Given the description of an element on the screen output the (x, y) to click on. 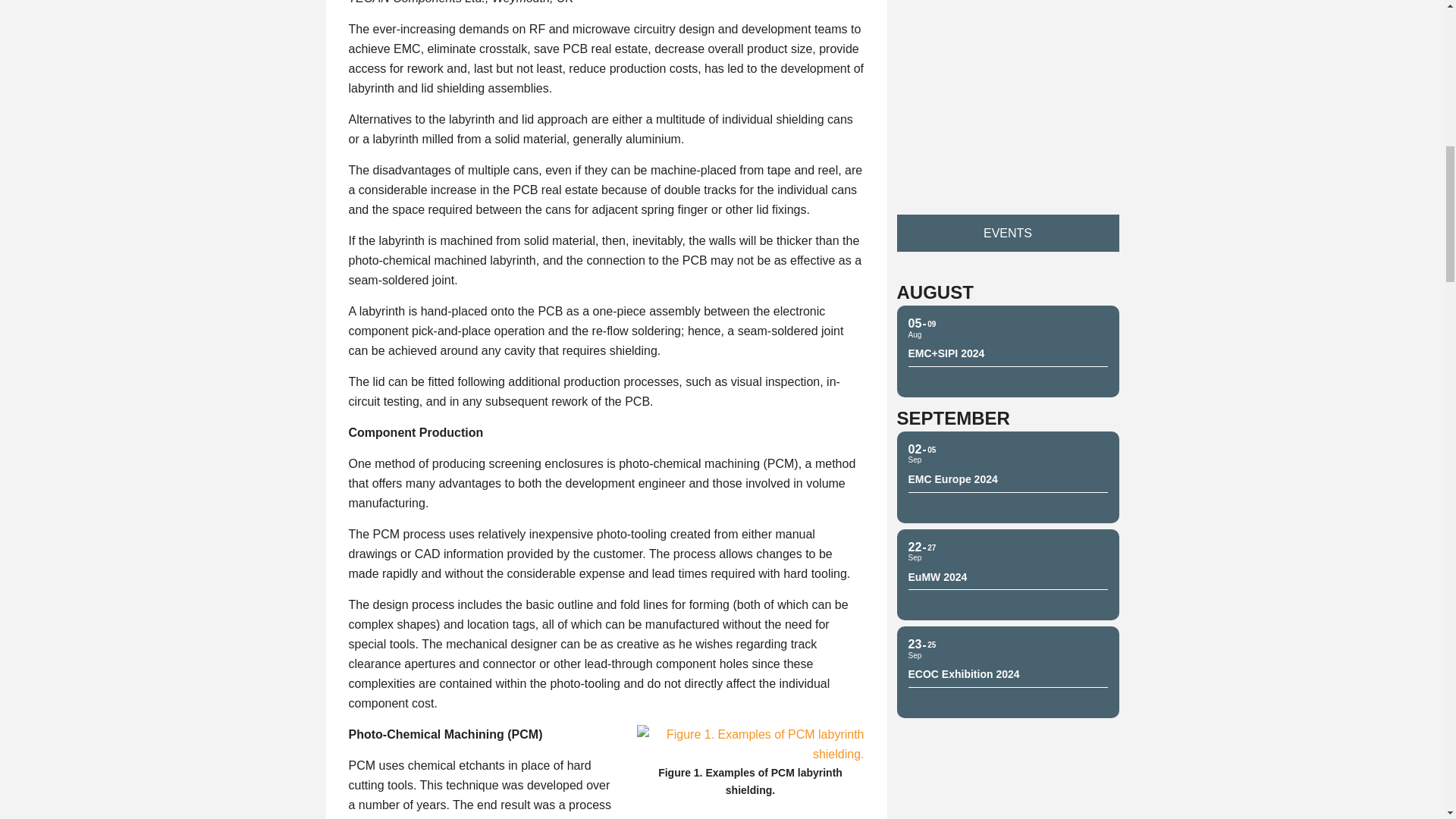
3rd party ad content (1007, 92)
WarnerFigure1 (750, 744)
